Given the description of an element on the screen output the (x, y) to click on. 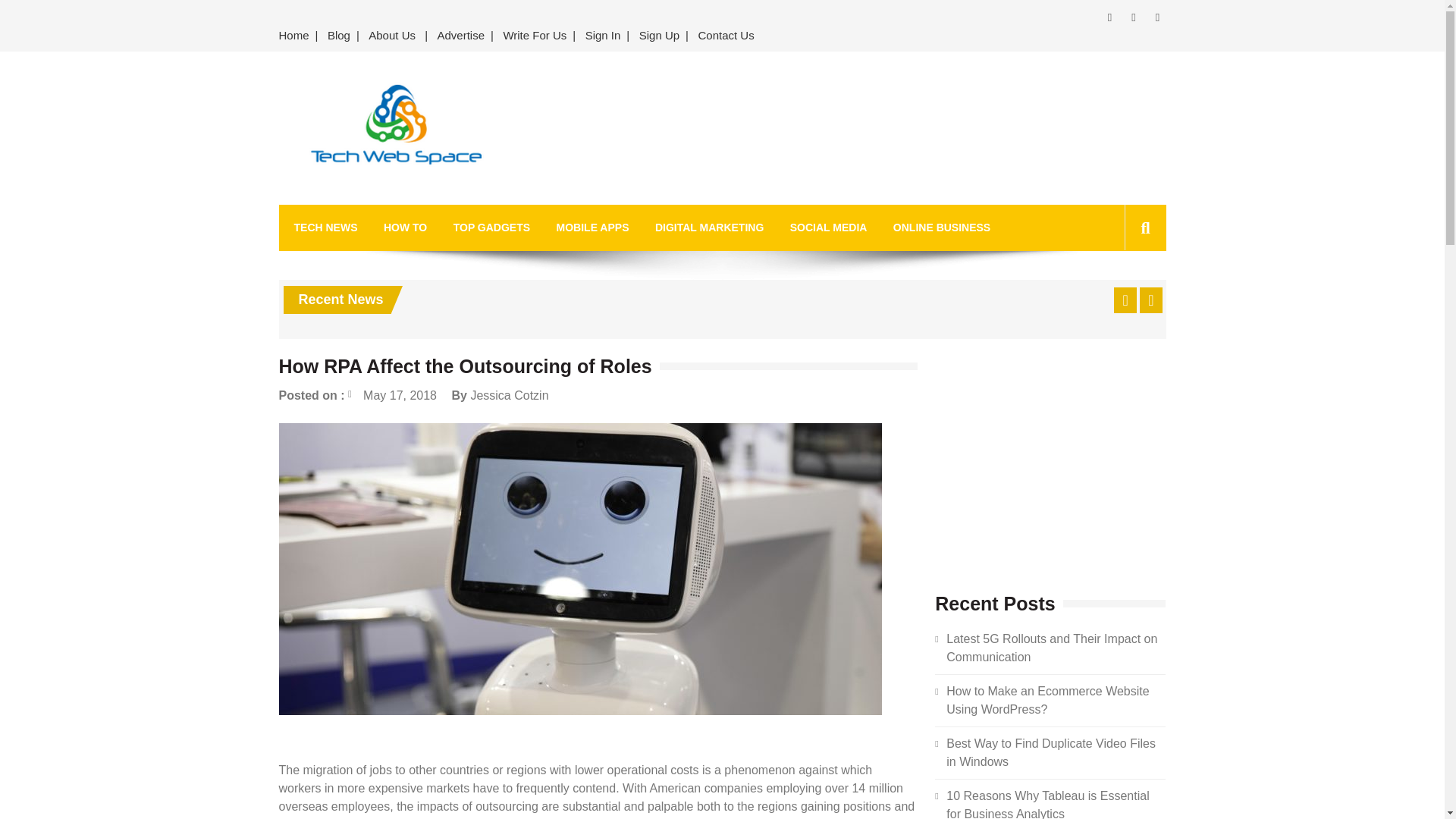
Posts by Jessica Cotzin (509, 395)
Advertise (460, 36)
Home (297, 36)
Sign In (603, 36)
Contact Us (725, 36)
Blog (338, 36)
Write For Us (534, 36)
Advertisement (861, 127)
About Us (392, 36)
Sign Up (659, 36)
